Given the description of an element on the screen output the (x, y) to click on. 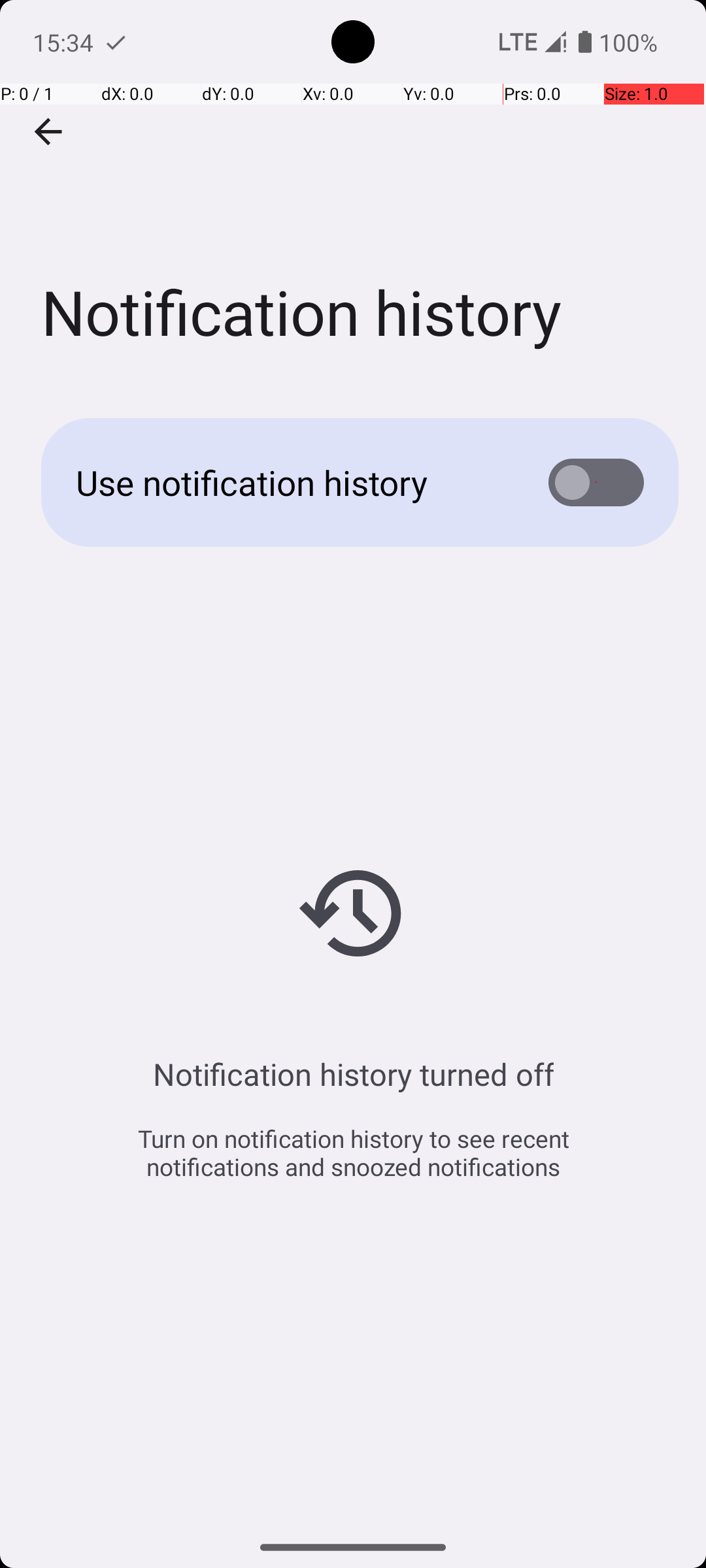
Notification history turned off Element type: android.widget.TextView (352, 1073)
Turn on notification history to see recent notifications and snoozed notifications Element type: android.widget.TextView (352, 1152)
Use notification history Element type: android.widget.TextView (291, 482)
